Given the description of an element on the screen output the (x, y) to click on. 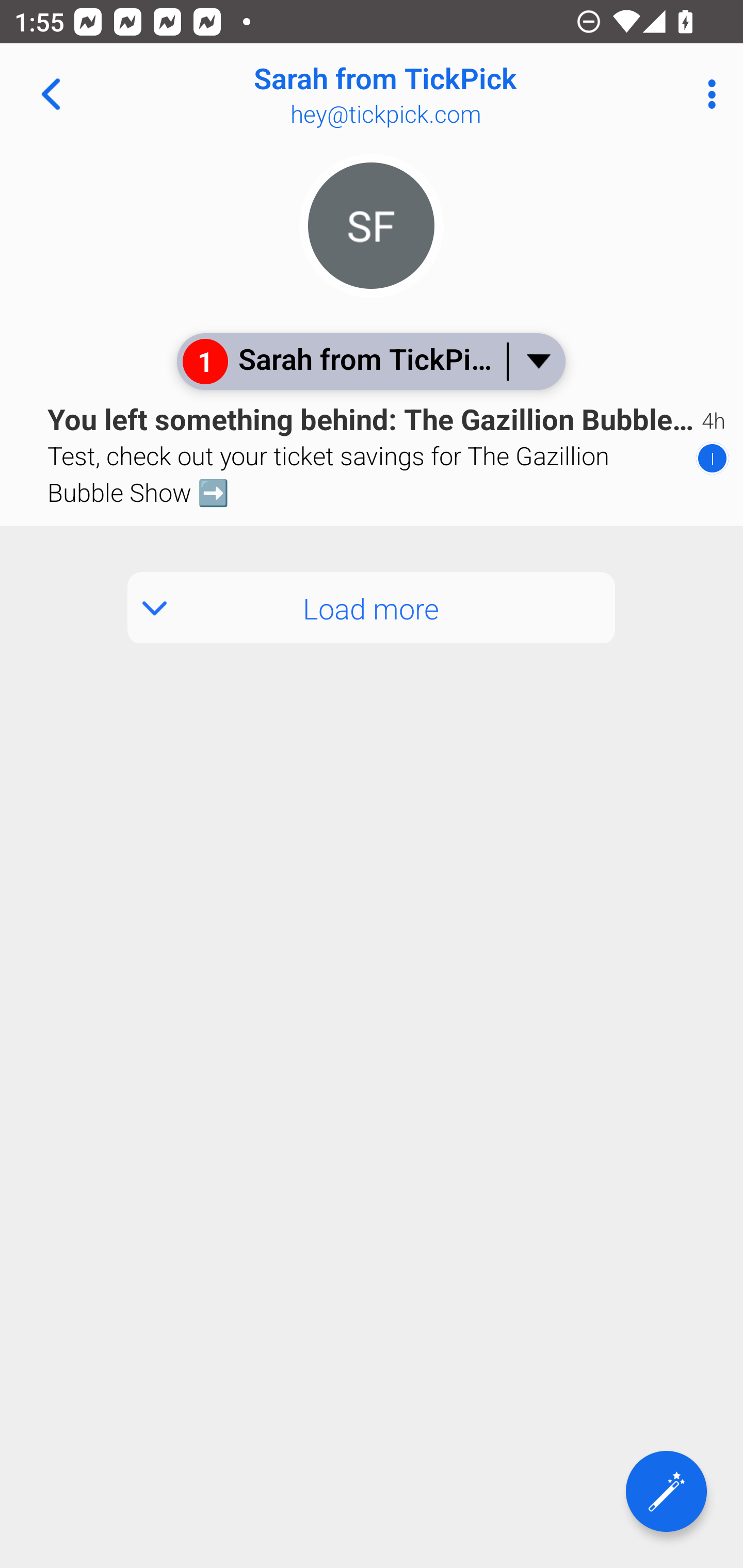
Navigate up (50, 93)
Sarah from TickPick hey@tickpick.com (436, 93)
More Options (706, 93)
1 Sarah from TickPick & You (370, 361)
Load more (371, 584)
Load more (371, 607)
